Given the description of an element on the screen output the (x, y) to click on. 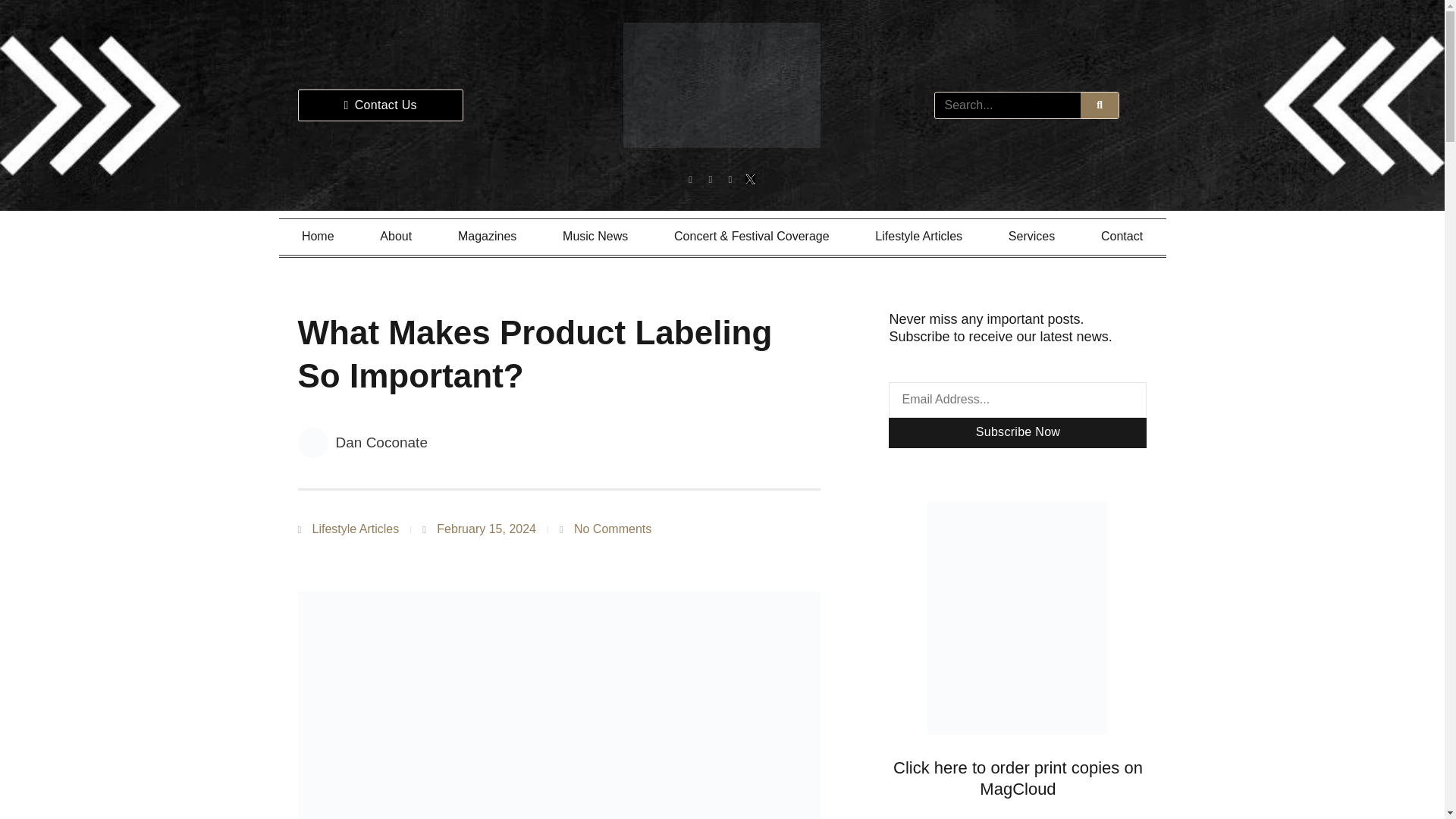
Contact (1122, 236)
Home (317, 236)
Dan Coconate (361, 442)
No Comments (604, 528)
Magazines (487, 236)
Music News (595, 236)
Contact Us (380, 105)
Services (1031, 236)
Lifestyle Articles (918, 236)
About (395, 236)
